Given the description of an element on the screen output the (x, y) to click on. 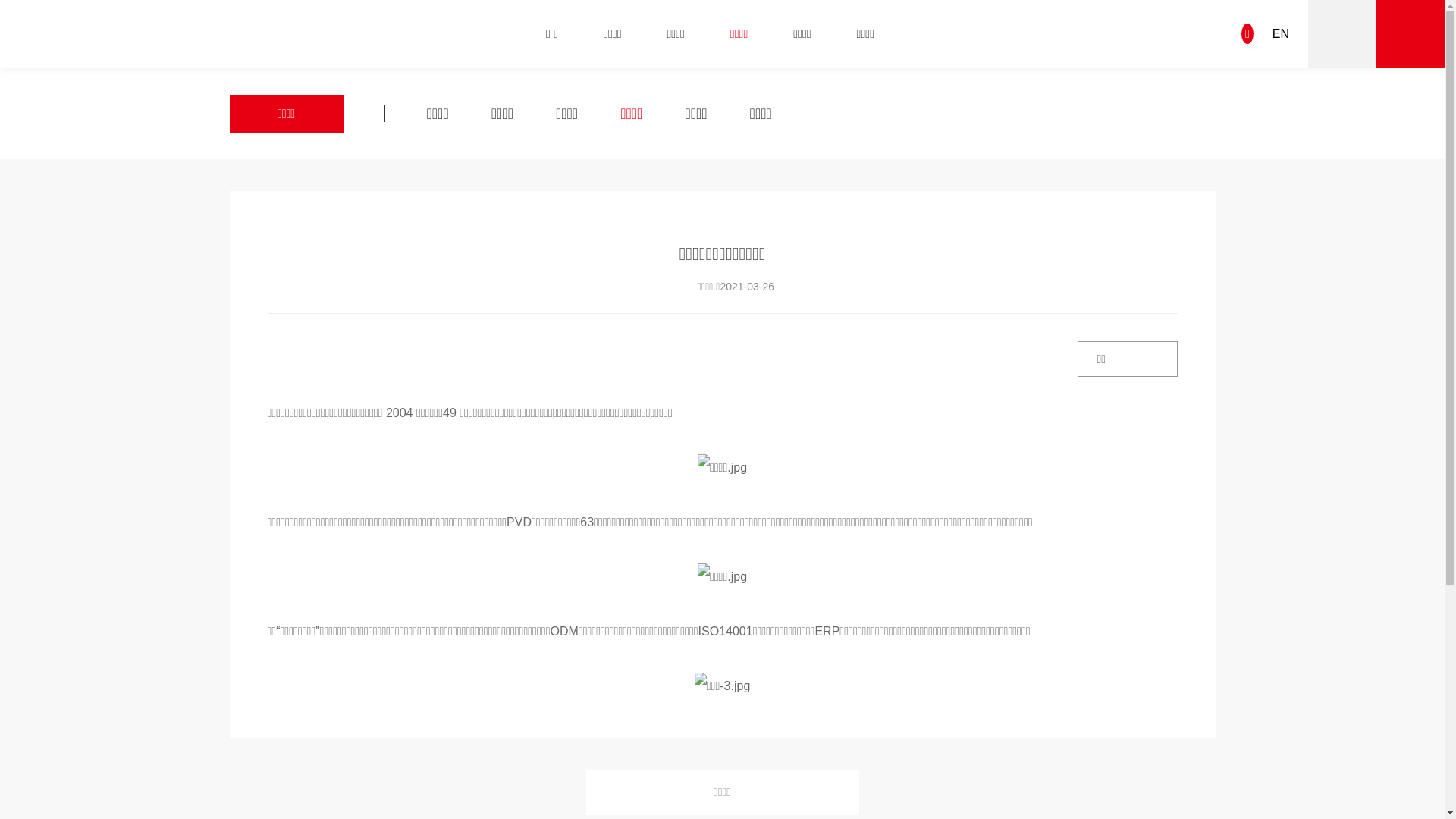
EN Element type: text (1280, 33)
